Given the description of an element on the screen output the (x, y) to click on. 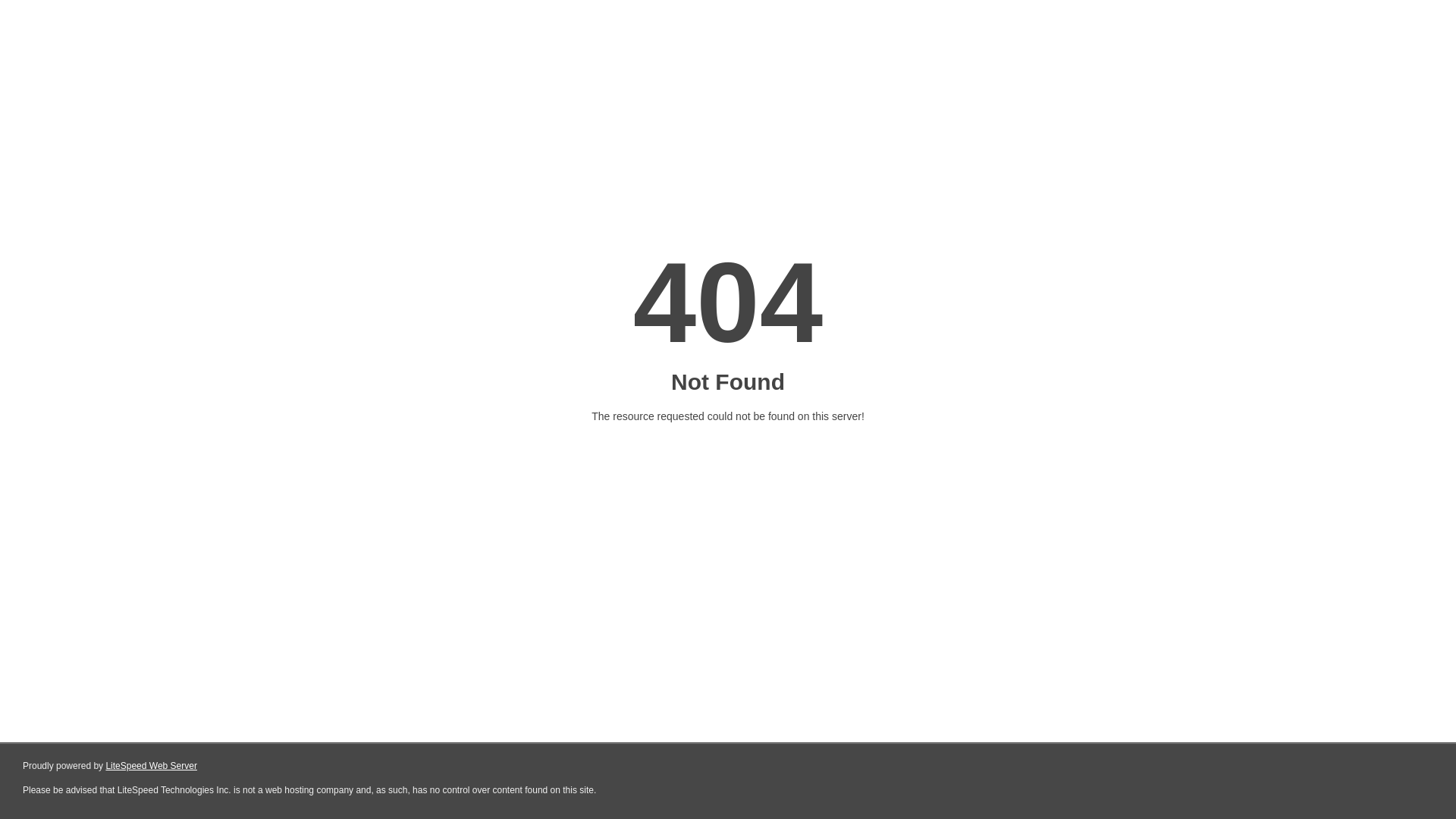
LiteSpeed Web Server Element type: text (151, 765)
